Given the description of an element on the screen output the (x, y) to click on. 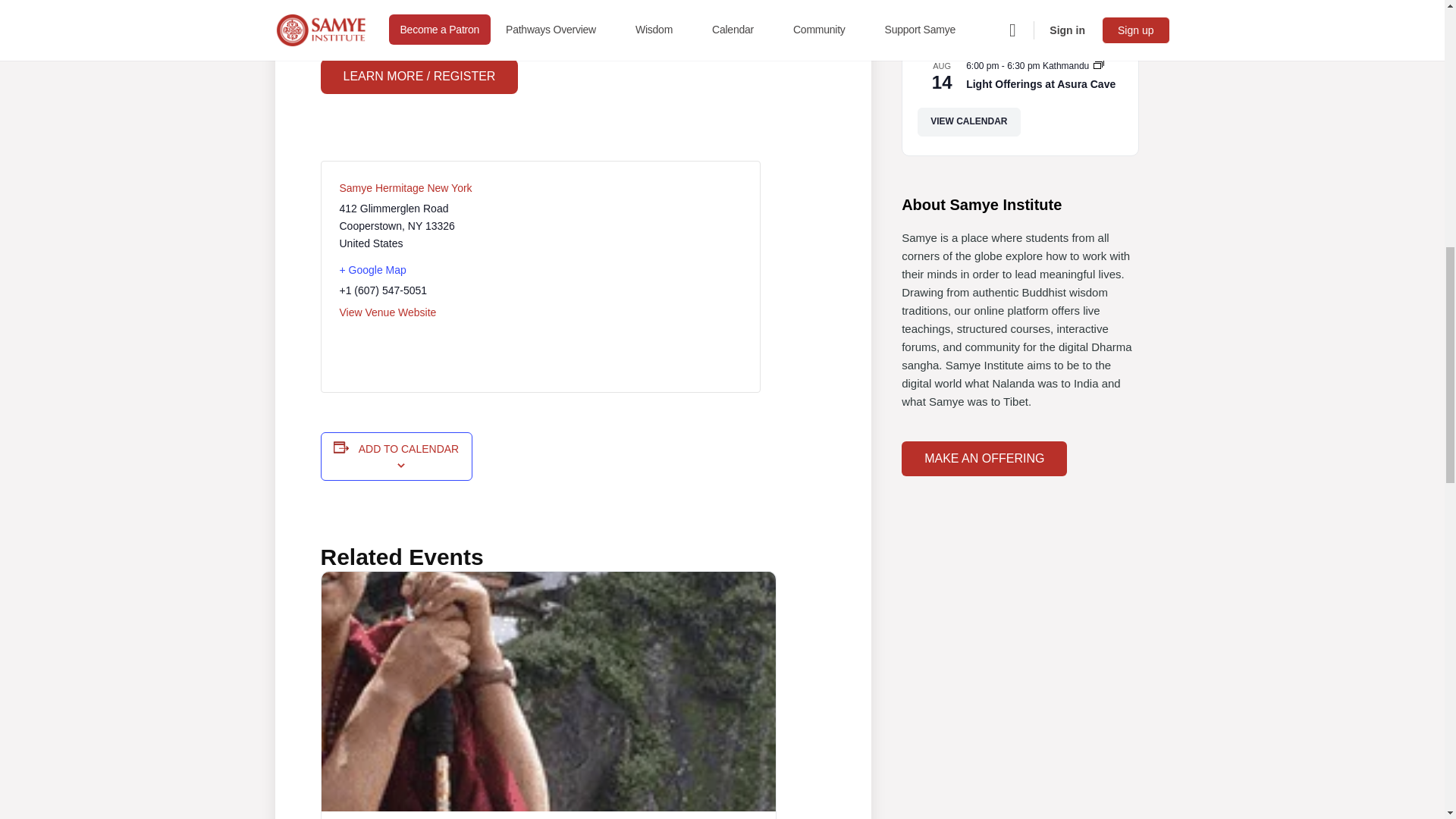
Samye Hermitage New York (405, 187)
Event Series (1098, 65)
Event Series (1098, 3)
Aspirations, Birth, Youth, and Entrance into the Dharma (1040, 30)
Event Series (1098, 4)
Click to view a Google Map (433, 270)
New York (414, 225)
Event Series (1098, 63)
